Given the description of an element on the screen output the (x, y) to click on. 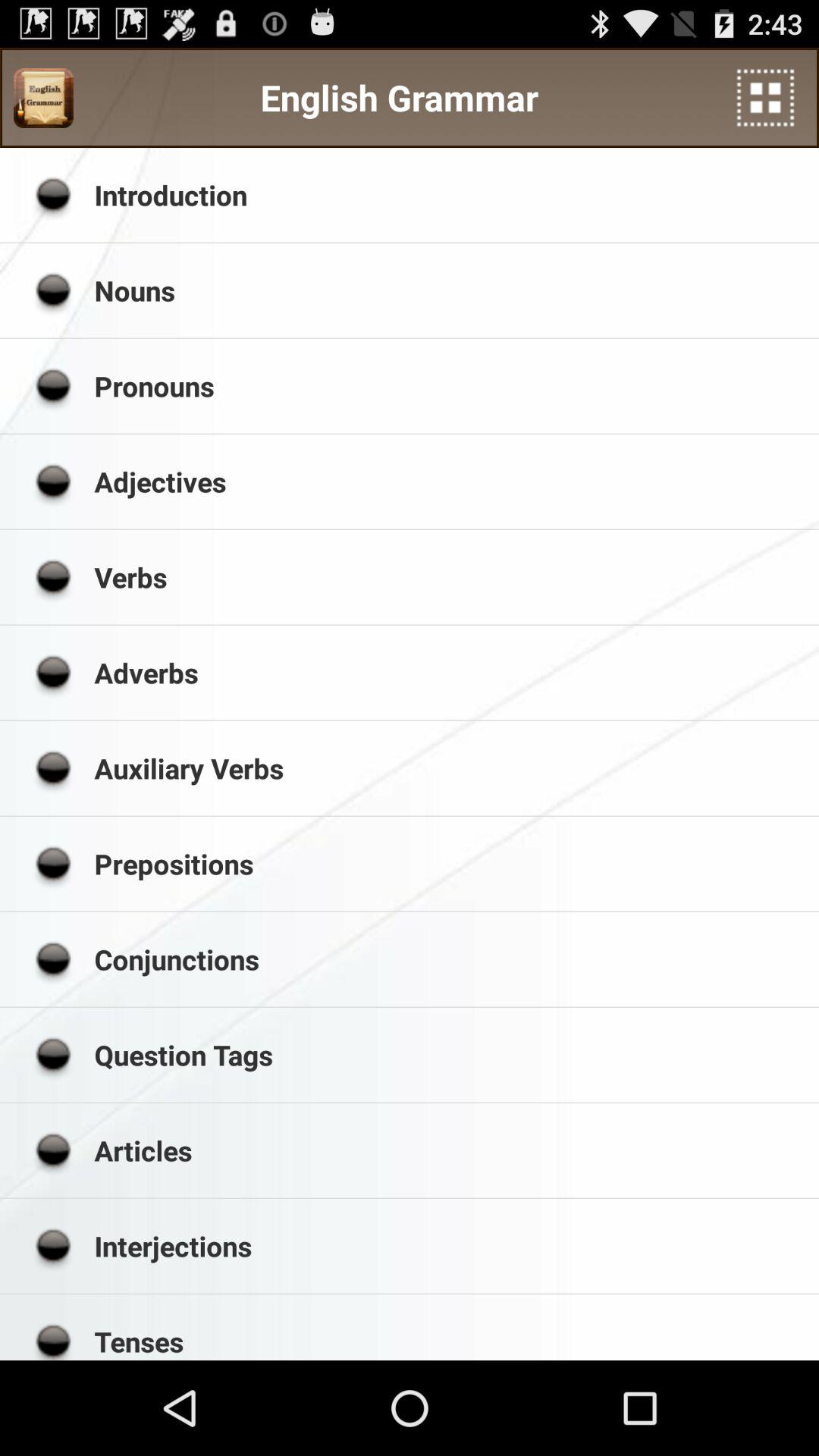
click the item above the auxiliary verbs icon (451, 672)
